Given the description of an element on the screen output the (x, y) to click on. 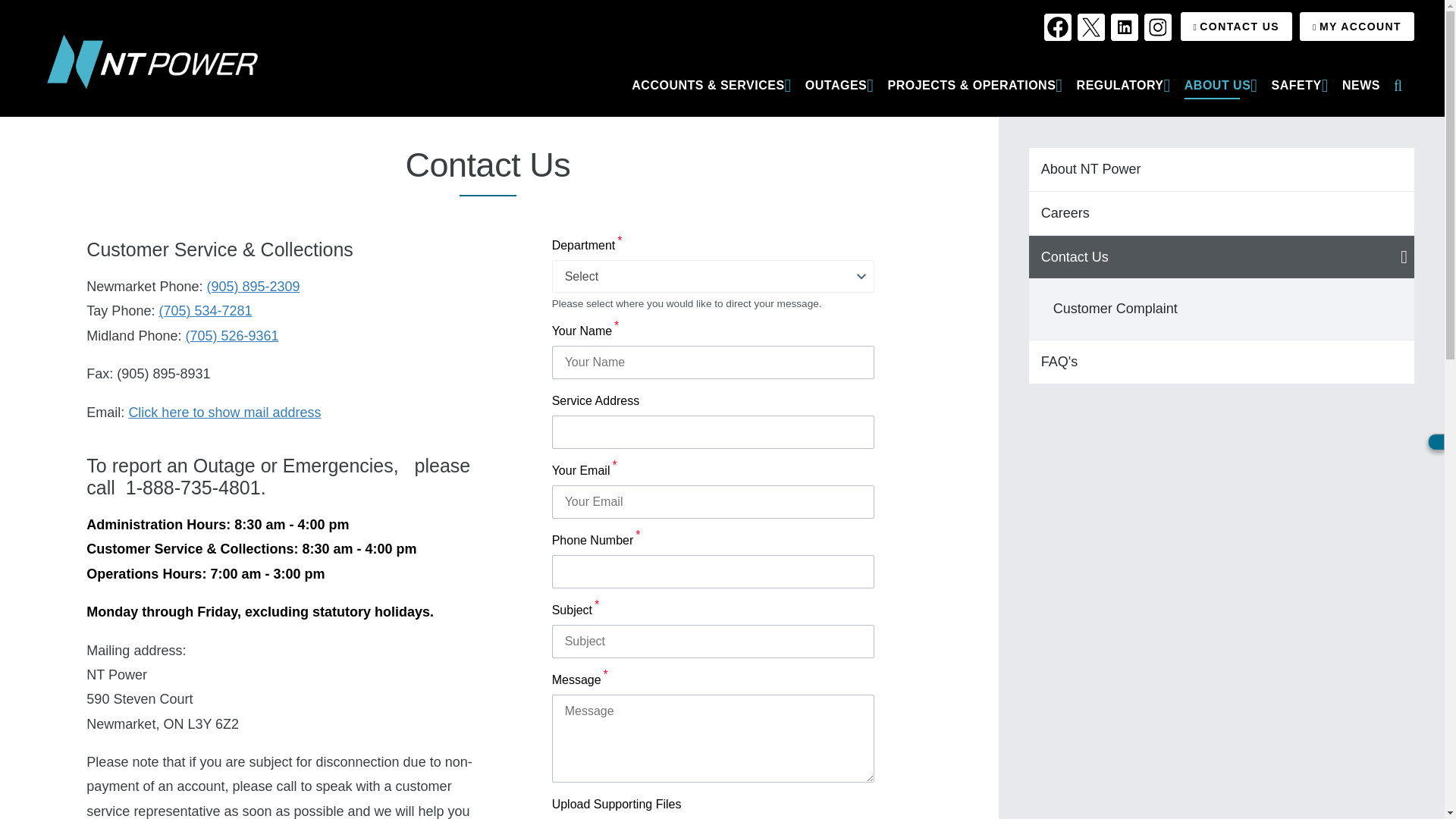
Home (51, 110)
Home (151, 61)
Facebook (1057, 26)
Did You Know (1221, 362)
LinkedIn (1124, 26)
Twitter (1091, 26)
Instagram (1158, 26)
